Given the description of an element on the screen output the (x, y) to click on. 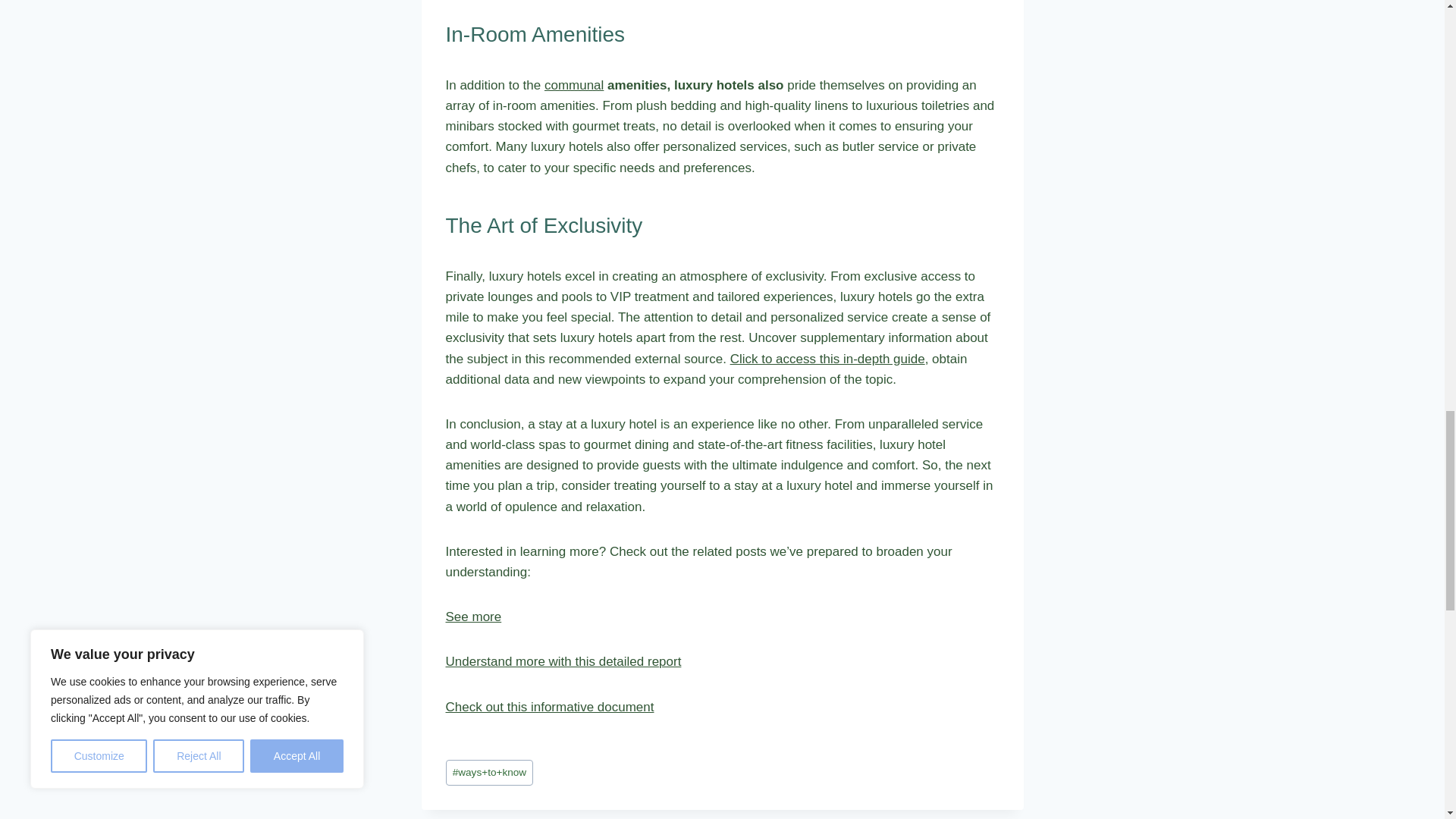
Click to access this in-depth guide (827, 359)
See more (473, 616)
communal (574, 84)
Understand more with this detailed report (563, 661)
Check out this informative document (549, 707)
